Given the description of an element on the screen output the (x, y) to click on. 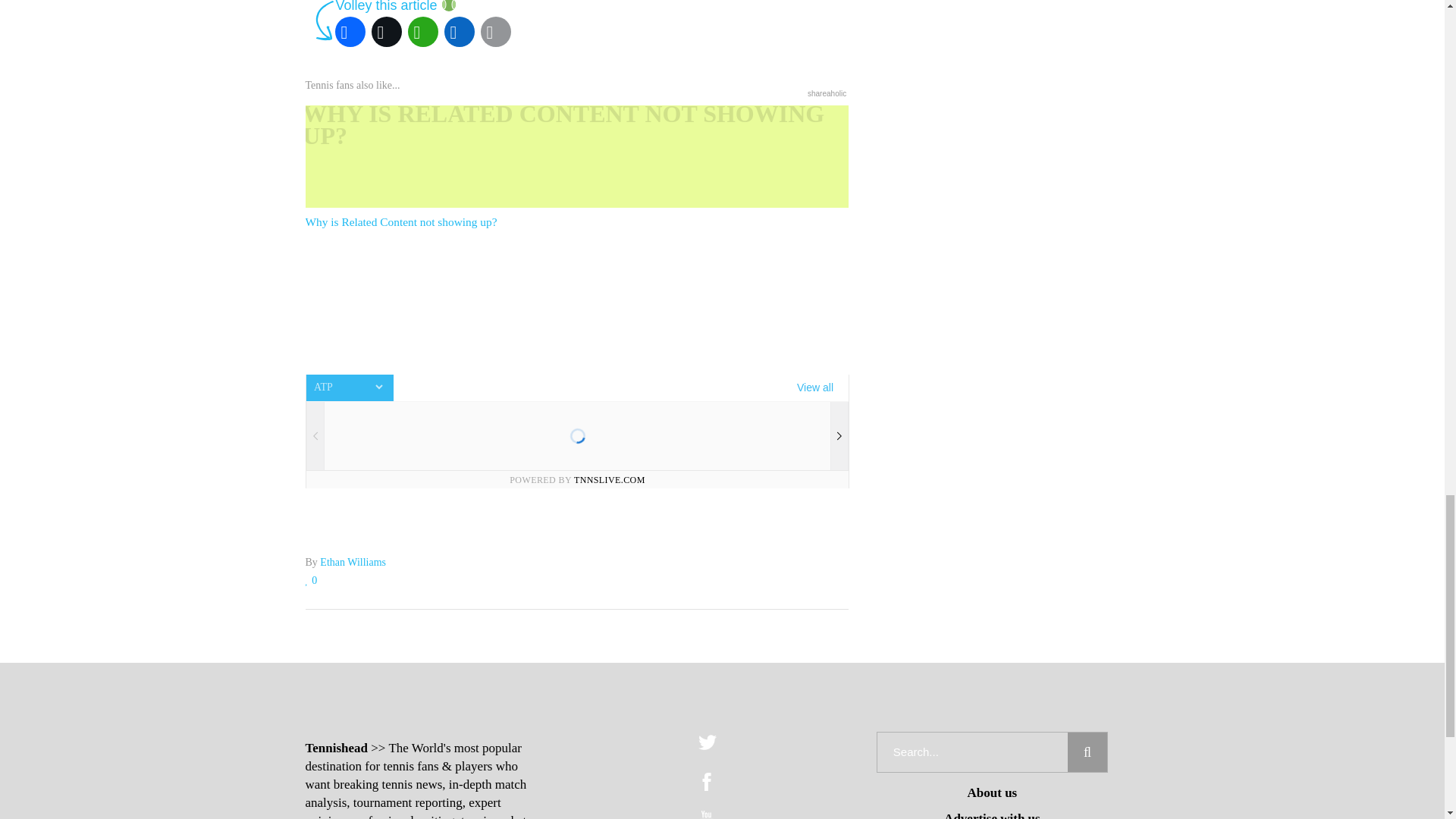
Facebook (349, 31)
LinkedIn (459, 31)
Why is Related Content not showing up? (576, 167)
TNNS Live Scores (576, 431)
WhatsApp (422, 31)
Website Tools by Shareaholic (826, 93)
Email This (495, 31)
